Given the description of an element on the screen output the (x, y) to click on. 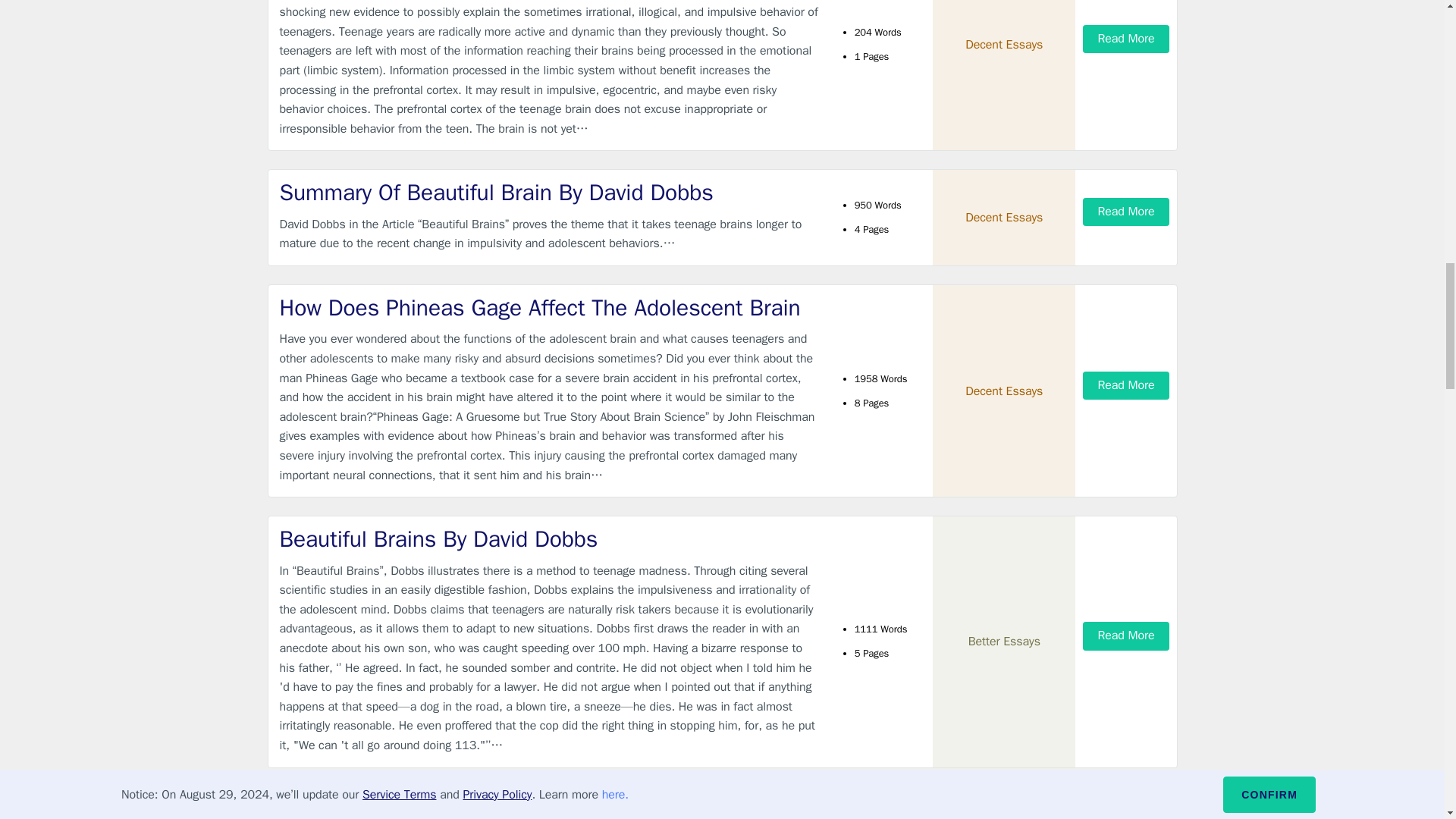
Read More (1126, 212)
Read More (1126, 635)
Summary Of Beautiful Brain By David Dobbs (548, 192)
Read More (1126, 385)
Read More (1126, 39)
Beautiful Brains By David Dobbs (548, 539)
How Does Phineas Gage Affect The Adolescent Brain (548, 307)
Beautiful Brain By David Dobbs Analysis (548, 806)
